Given the description of an element on the screen output the (x, y) to click on. 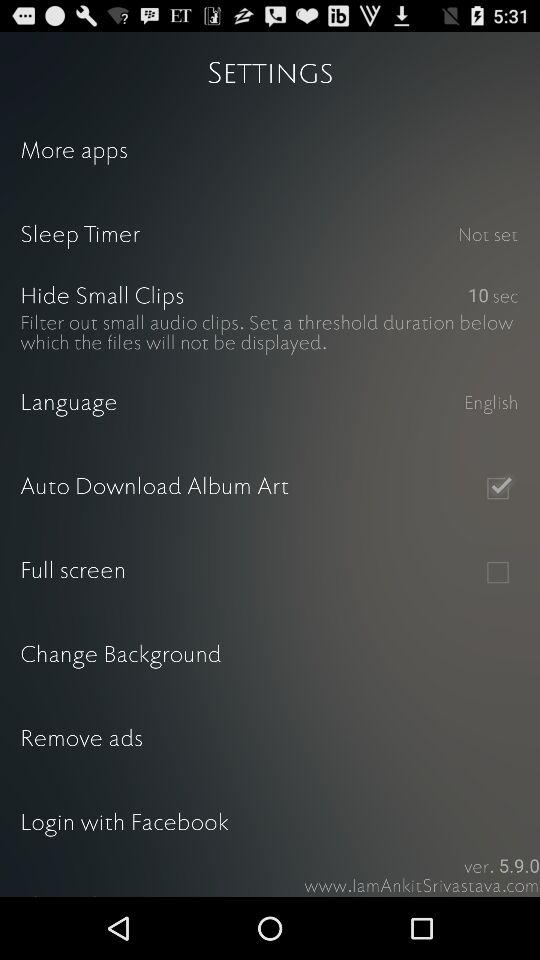
jump until the login with facebook icon (270, 824)
